Given the description of an element on the screen output the (x, y) to click on. 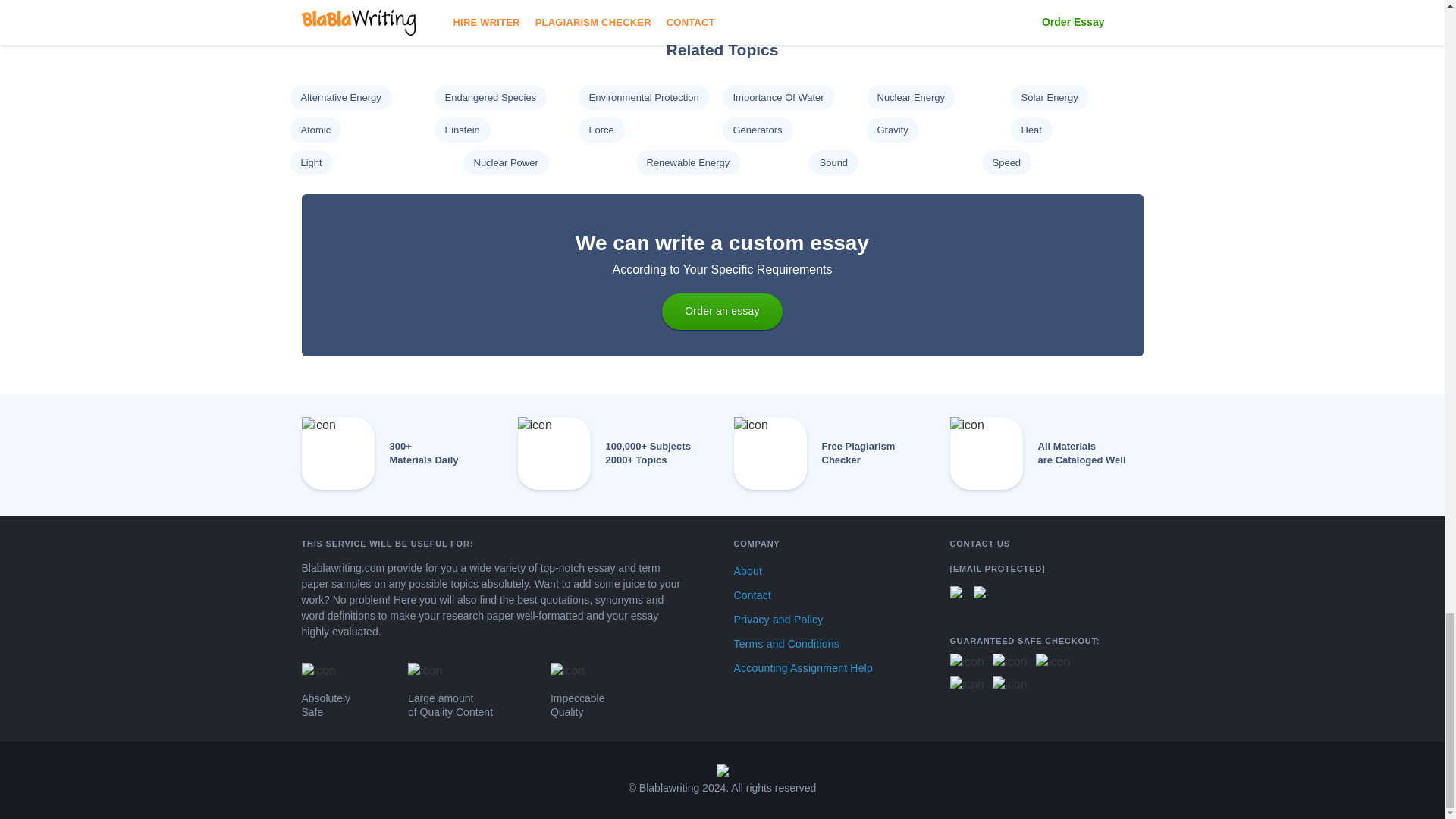
Nuclear Energy (910, 97)
Environmental Protection (643, 97)
Alternative Energy (339, 97)
Endangered Species (489, 97)
Solar Energy (1048, 97)
Atomic (314, 129)
Importance Of Water (778, 97)
